Given the description of an element on the screen output the (x, y) to click on. 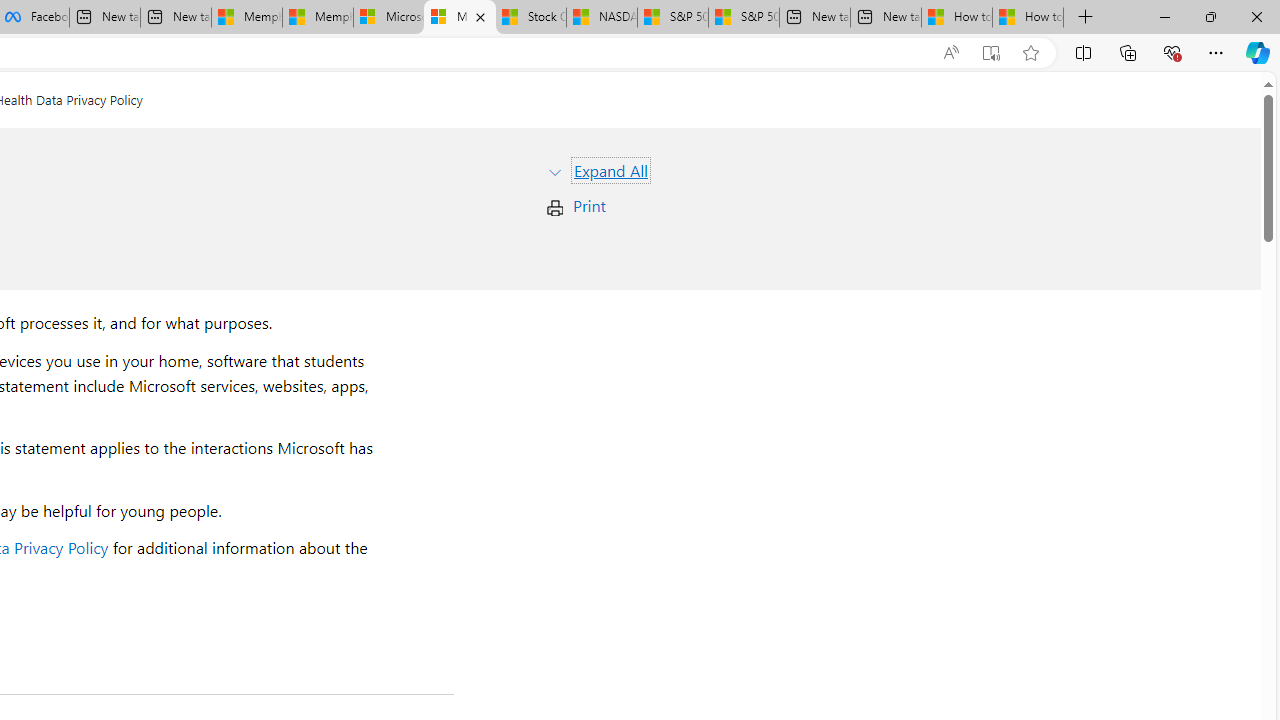
Split screen (1083, 52)
Add this page to favorites (Ctrl+D) (1030, 53)
Expand All (610, 170)
Close (1256, 16)
Close tab (480, 16)
Enter Immersive Reader (F9) (991, 53)
Copilot (Ctrl+Shift+.) (1258, 52)
Collections (1128, 52)
Minimize (1164, 16)
New Tab (1085, 17)
Browser essentials (1171, 52)
Restore (1210, 16)
